Given the description of an element on the screen output the (x, y) to click on. 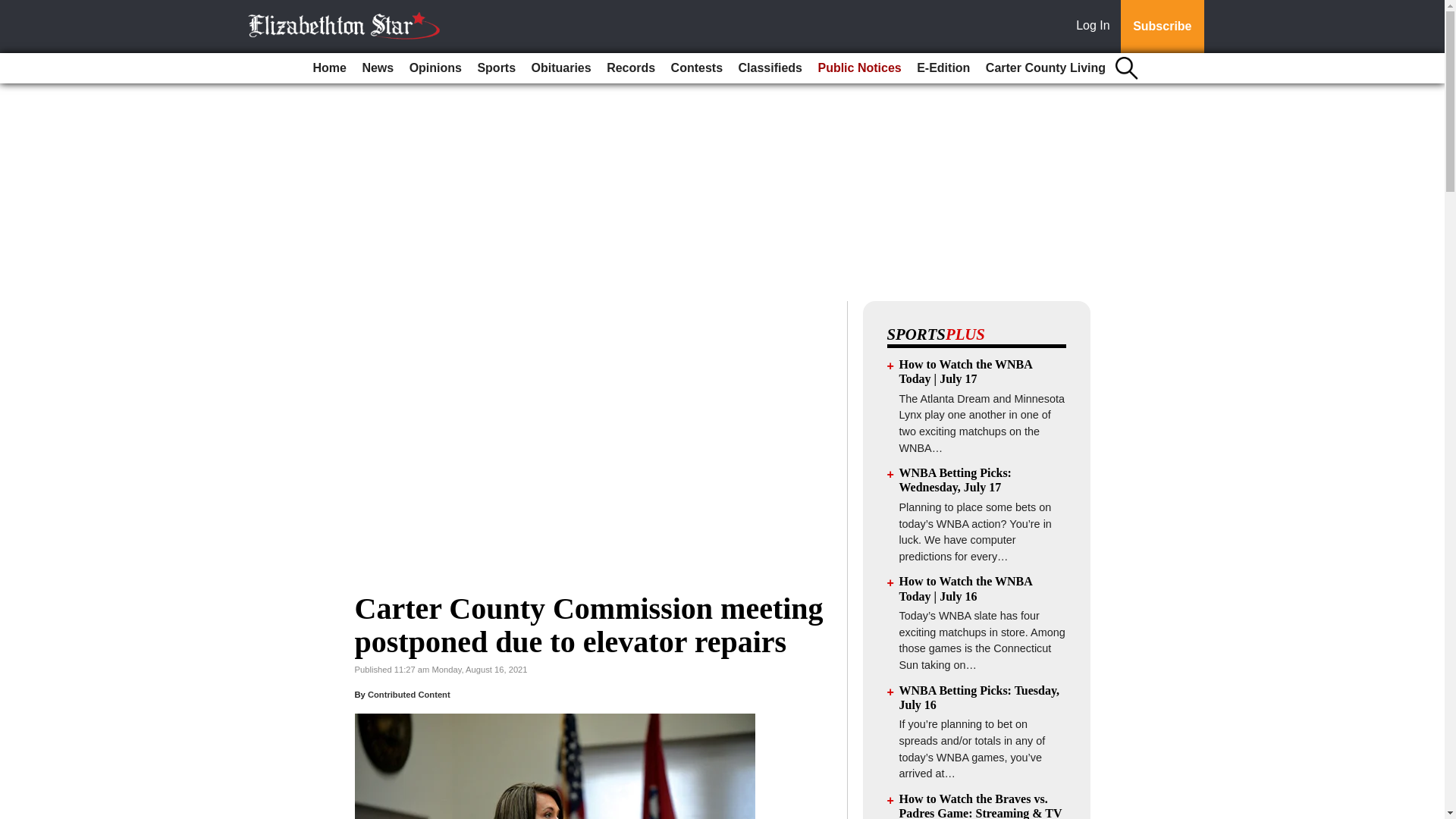
Public Notices (858, 68)
Home (328, 68)
Log In (1095, 26)
Subscribe (1162, 26)
E-Edition (943, 68)
WNBA Betting Picks: Tuesday, July 16 (979, 697)
Carter County Living (1045, 68)
WNBA Betting Picks: Wednesday, July 17 (955, 479)
Records (630, 68)
News (376, 68)
Sports (495, 68)
Contributed Content (408, 694)
Opinions (435, 68)
Go (13, 9)
Contests (697, 68)
